Given the description of an element on the screen output the (x, y) to click on. 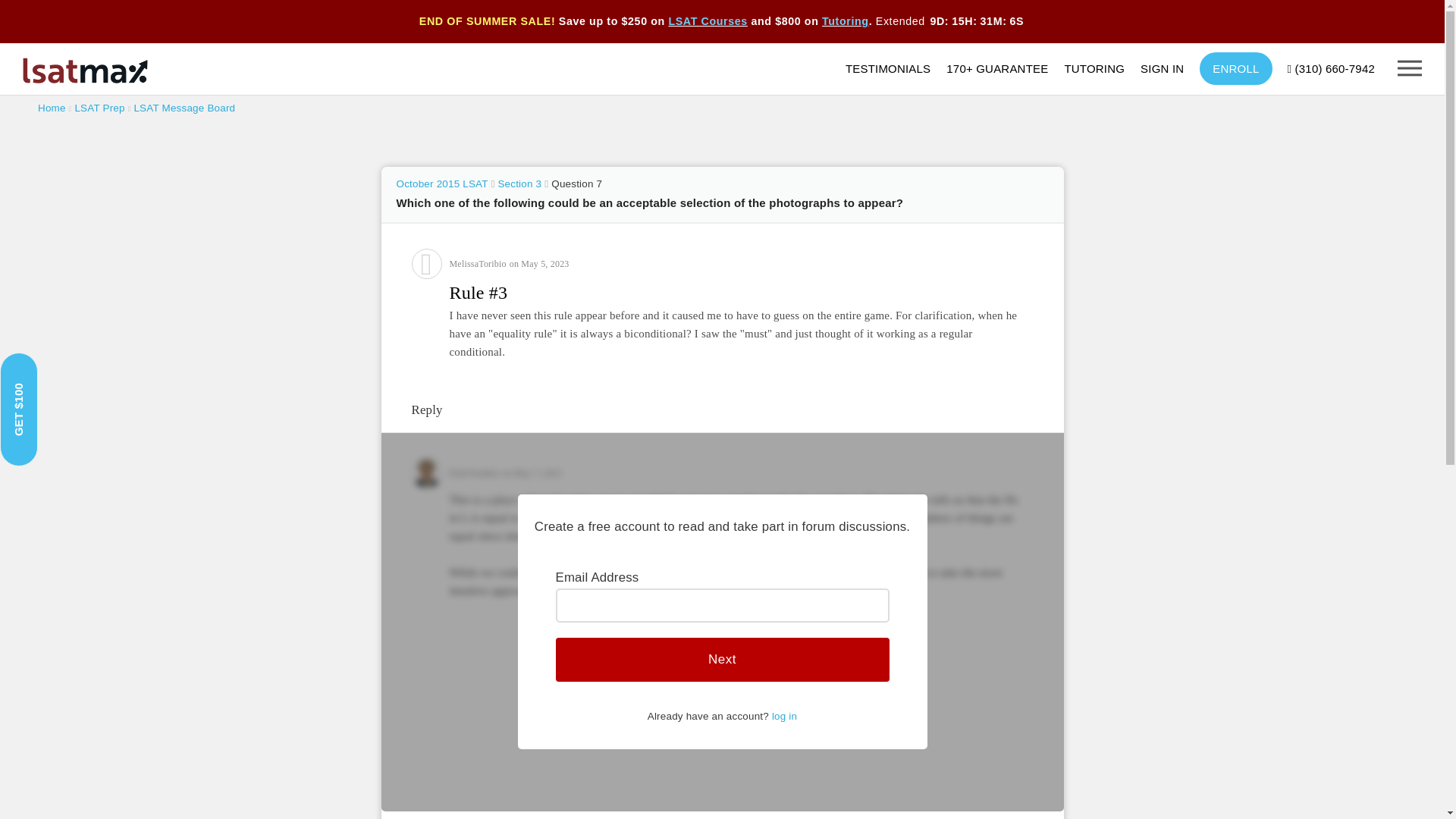
LSAT Prep (98, 107)
Next (721, 659)
October 2015 LSAT (441, 183)
TESTIMONIALS (895, 67)
LSAT Courses (707, 21)
log in (783, 715)
Tutoring (845, 21)
TUTORING (1102, 67)
Next (721, 659)
SIGN IN (1169, 67)
